Given the description of an element on the screen output the (x, y) to click on. 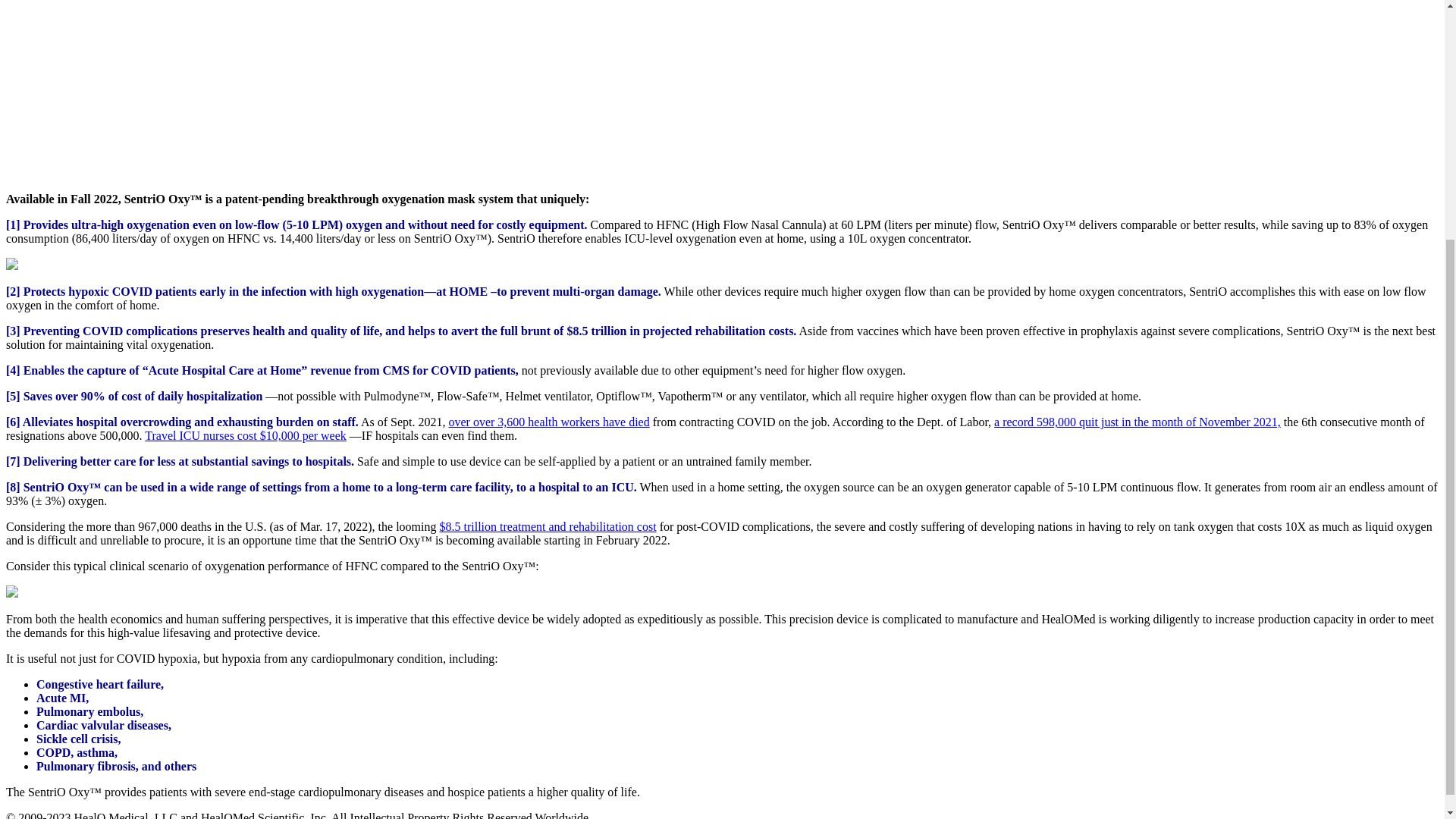
over 3,600 health workers have died (561, 421)
YouTube video player (217, 88)
a record 598,000 quit just in the month of November 2021, (1137, 421)
over (459, 421)
